Given the description of an element on the screen output the (x, y) to click on. 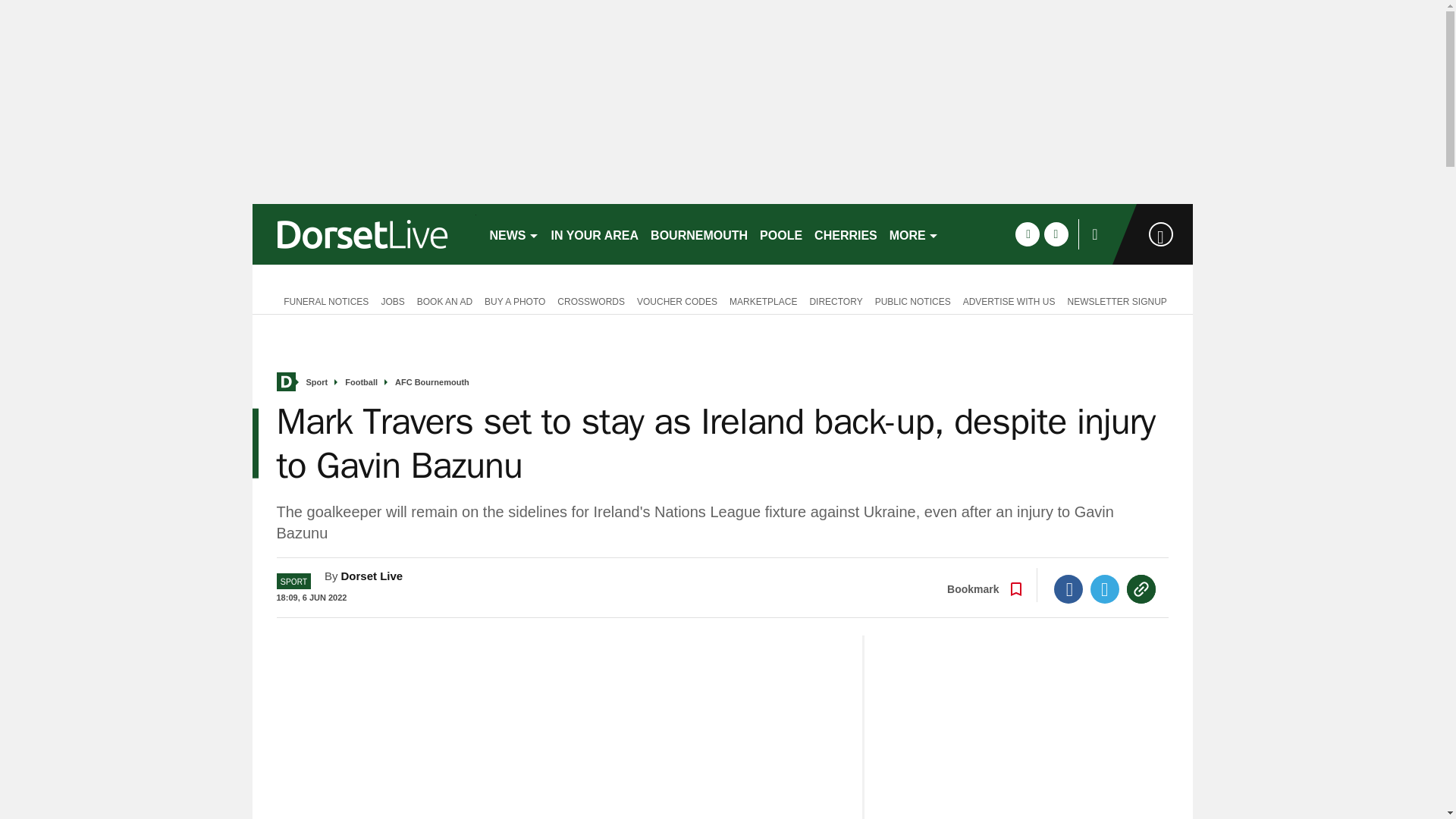
BUY A PHOTO (515, 300)
POOLE (781, 233)
dorsetlive (363, 233)
BOURNEMOUTH (699, 233)
MORE (913, 233)
Facebook (1068, 588)
JOBS (392, 300)
BOOK AN AD (444, 300)
CROSSWORDS (590, 300)
DIRECTORY (835, 300)
